Given the description of an element on the screen output the (x, y) to click on. 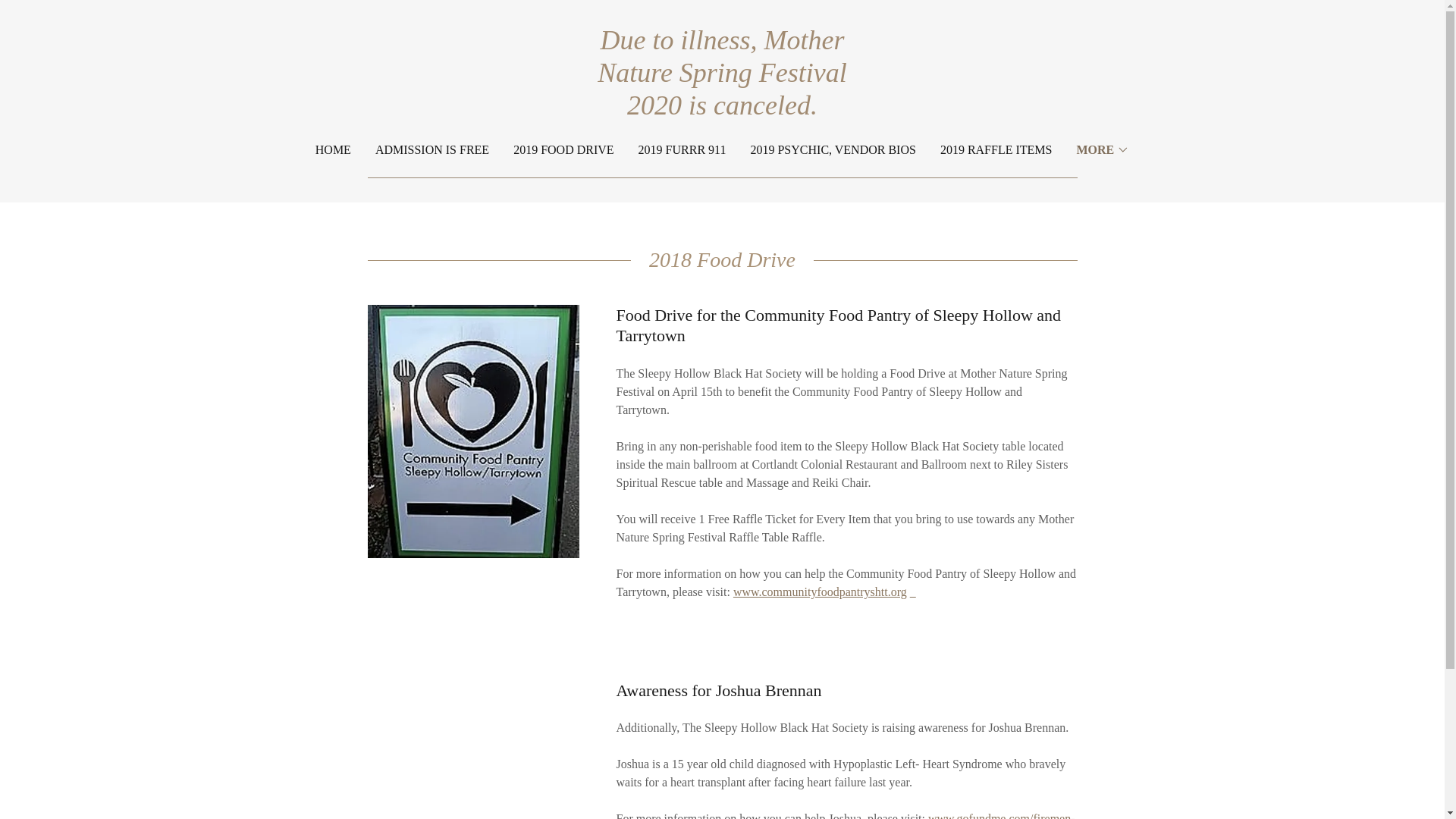
2019 RAFFLE ITEMS (996, 149)
ADMISSION IS FREE (432, 149)
2019 FOOD DRIVE (562, 149)
HOME (333, 149)
2019 FURRR 911 (681, 149)
www.communityfoodpantryshtt.org (820, 591)
2019 PSYCHIC, VENDOR BIOS (832, 149)
MORE (1102, 149)
